Given the description of an element on the screen output the (x, y) to click on. 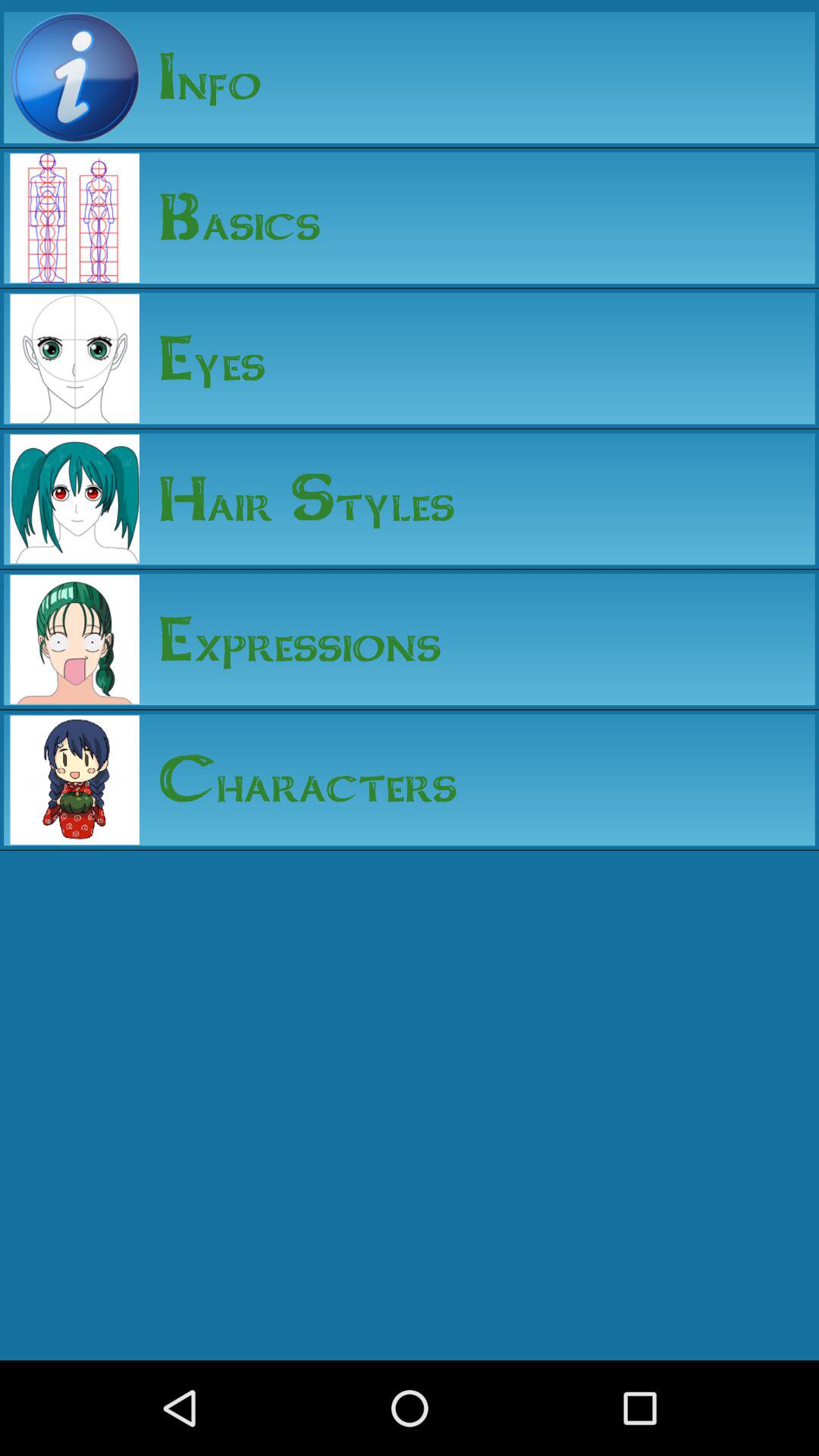
jump to the basics item (229, 217)
